Given the description of an element on the screen output the (x, y) to click on. 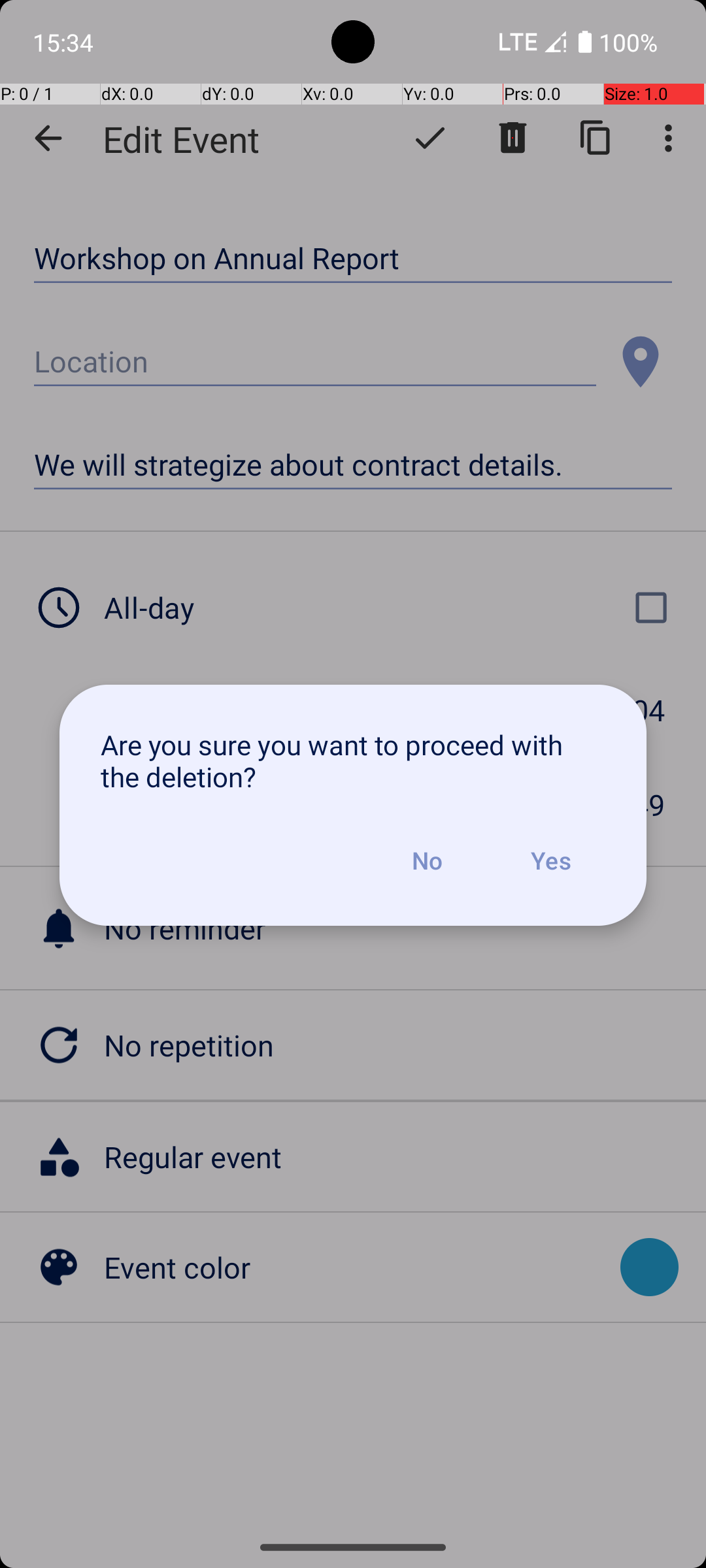
Are you sure you want to proceed with the deletion? Element type: android.widget.TextView (352, 760)
No Element type: android.widget.Button (426, 860)
Yes Element type: android.widget.Button (550, 860)
